Given the description of an element on the screen output the (x, y) to click on. 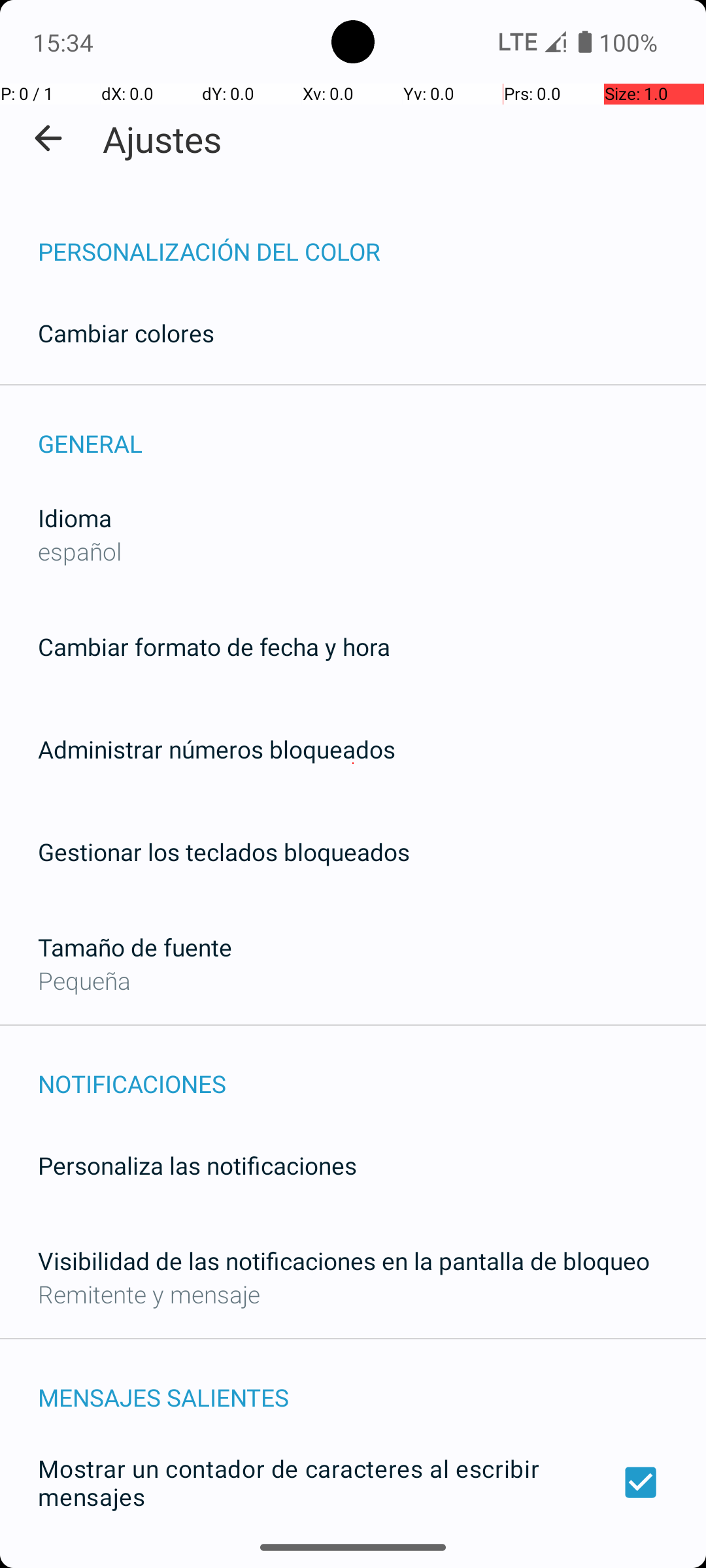
NOTIFICACIONES Element type: android.widget.TextView (371, 1069)
MENSAJES SALIENTES Element type: android.widget.TextView (371, 1383)
Cambiar formato de fecha y hora Element type: android.widget.TextView (213, 646)
Administrar números bloqueados Element type: android.widget.TextView (216, 748)
Gestionar los teclados bloqueados Element type: android.widget.TextView (223, 851)
Tamaño de fuente Element type: android.widget.TextView (134, 946)
Pequeña Element type: android.widget.TextView (83, 979)
Visibilidad de las notificaciones en la pantalla de bloqueo Element type: android.widget.TextView (343, 1260)
Remitente y mensaje Element type: android.widget.TextView (148, 1293)
Mostrar un contador de caracteres al escribir mensajes Element type: android.widget.CheckBox (352, 1482)
Elimina los acentos y signos diacríticos al enviar mensajes Element type: android.widget.CheckBox (352, 1559)
